Given the description of an element on the screen output the (x, y) to click on. 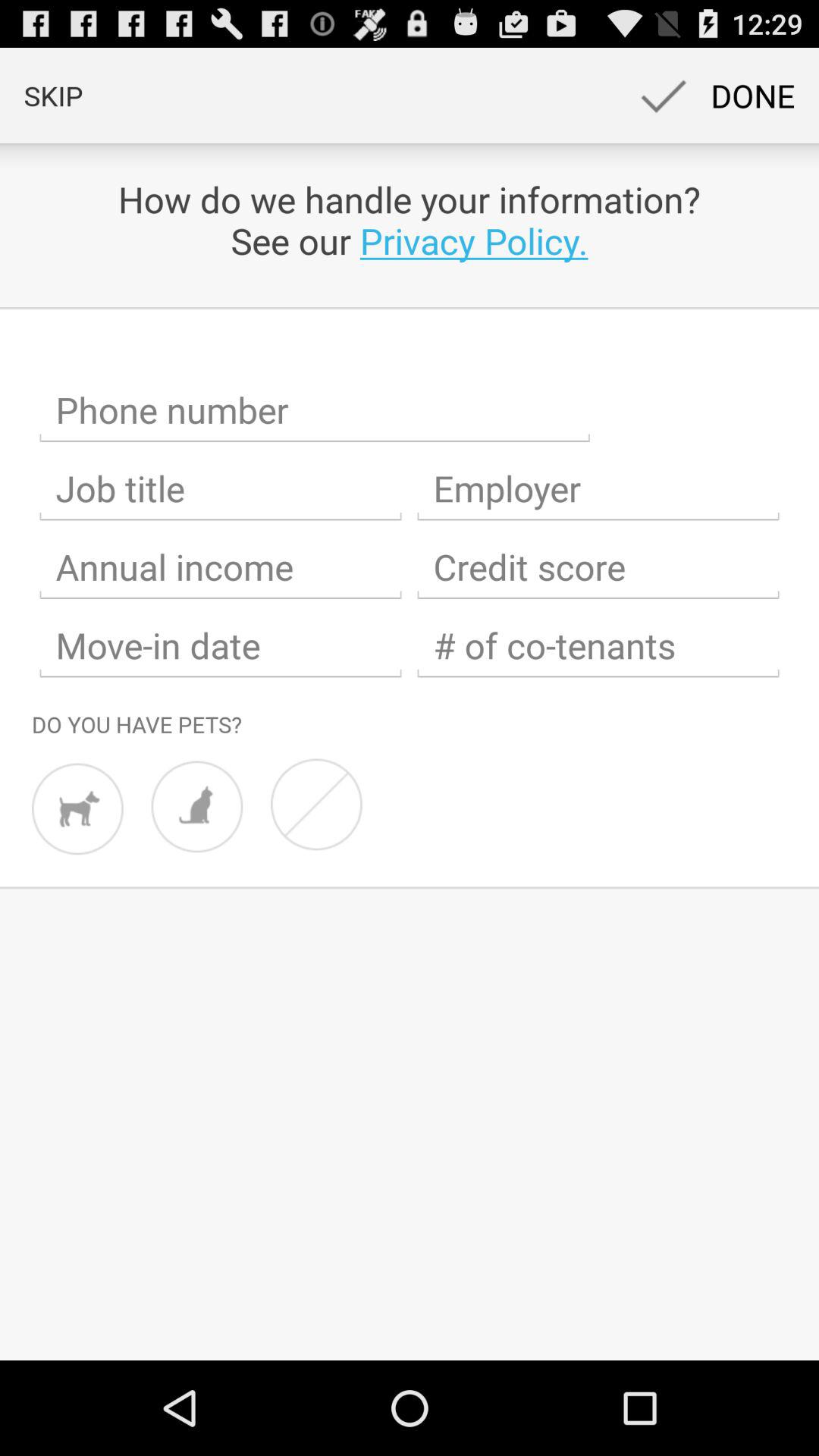
information row (314, 410)
